Given the description of an element on the screen output the (x, y) to click on. 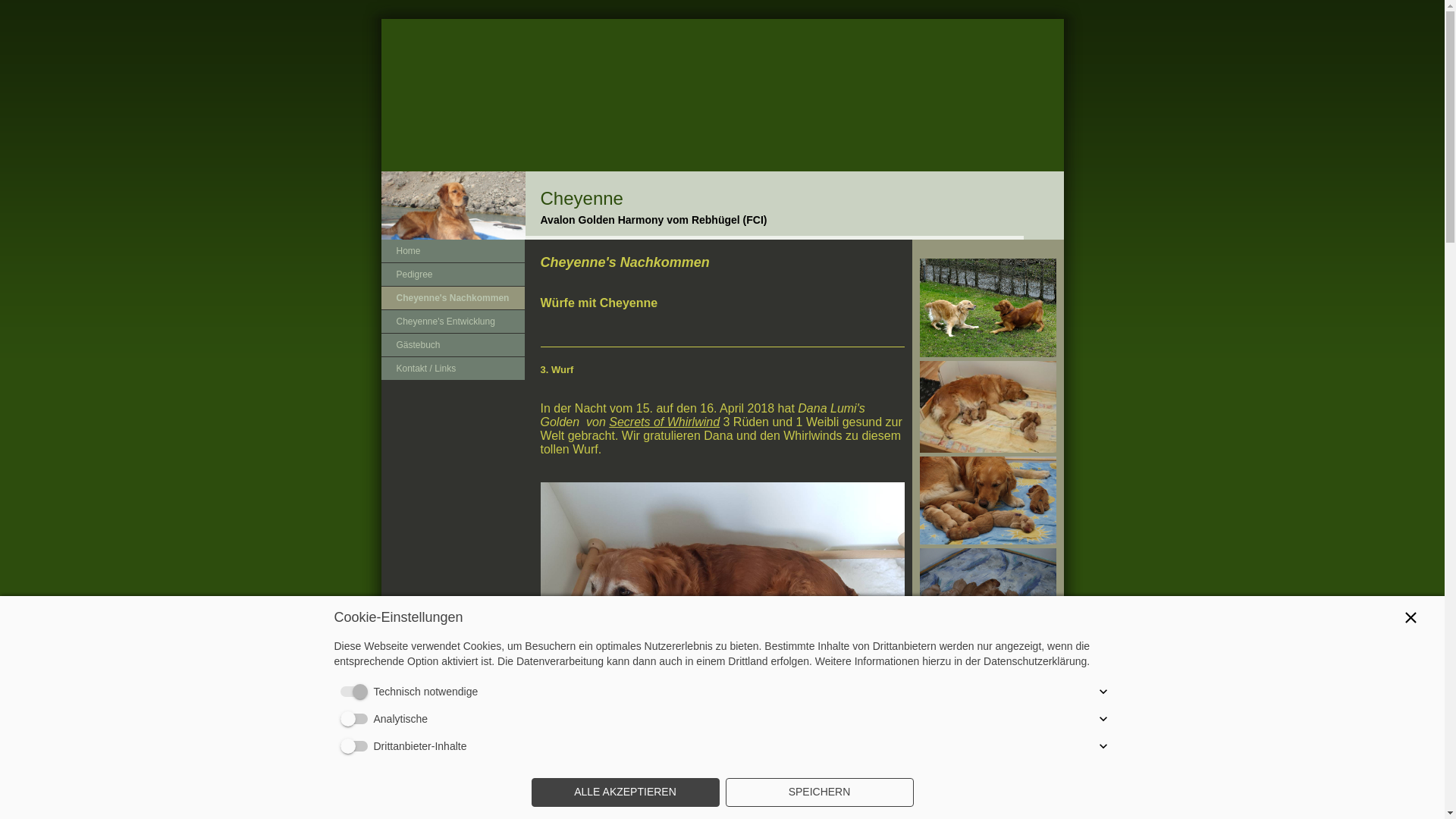
SPEICHERN Element type: text (818, 792)
Cheyenne's Entwicklung Element type: text (452, 321)
Kontakt / Links Element type: text (452, 368)
Pedigree Element type: text (452, 274)
Home Element type: text (452, 250)
Secrets of Whirlwind Element type: text (663, 421)
Cheyenne's Nachkommen Element type: text (452, 297)
ALLE AKZEPTIEREN Element type: text (624, 792)
